Given the description of an element on the screen output the (x, y) to click on. 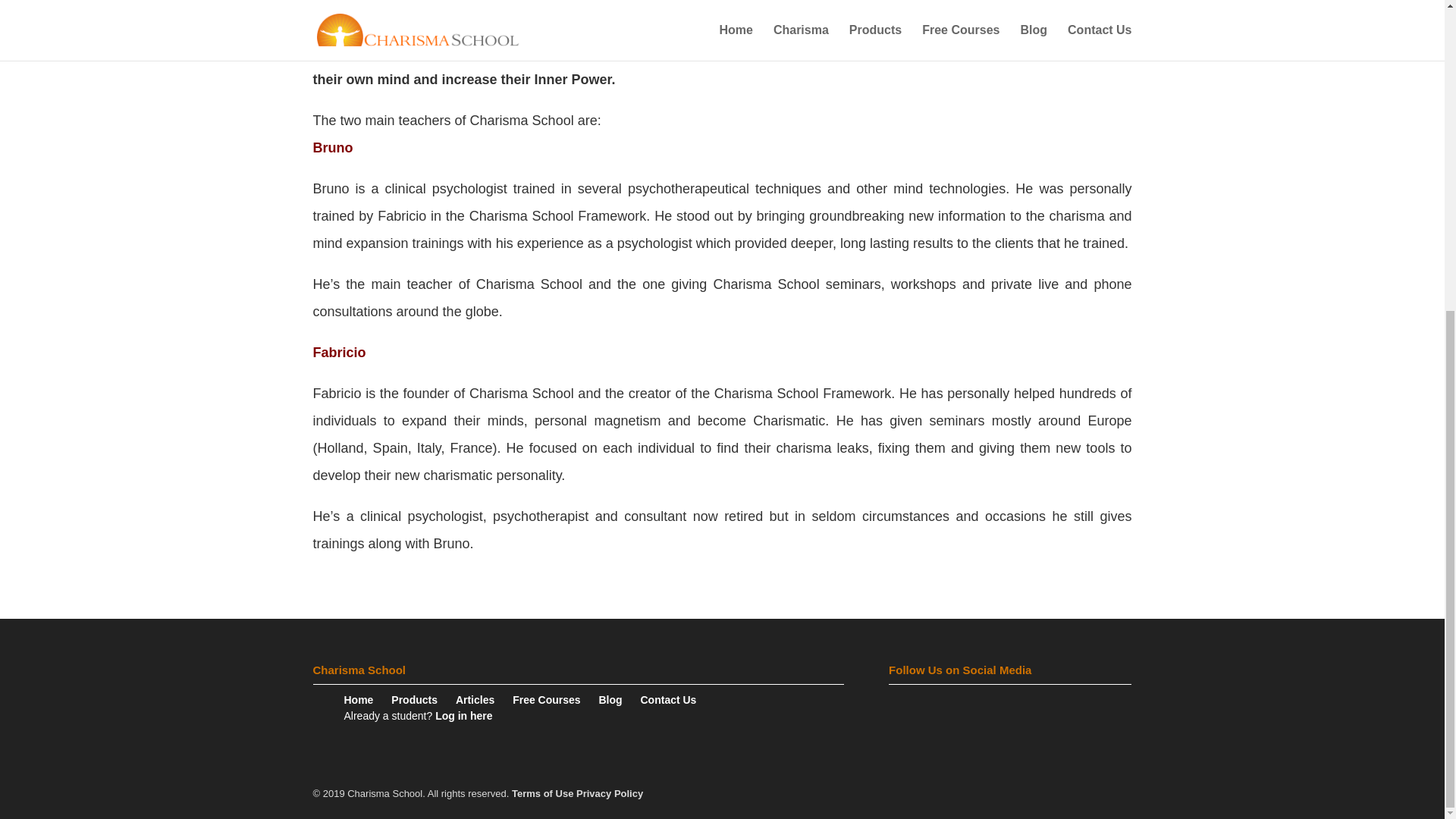
Terms of Use (542, 793)
Home (365, 699)
Free Courses (553, 699)
Privacy Policy (609, 793)
Log in here (470, 715)
Blog (617, 699)
Articles (482, 699)
Contact Us (675, 699)
Products (421, 699)
